Given the description of an element on the screen output the (x, y) to click on. 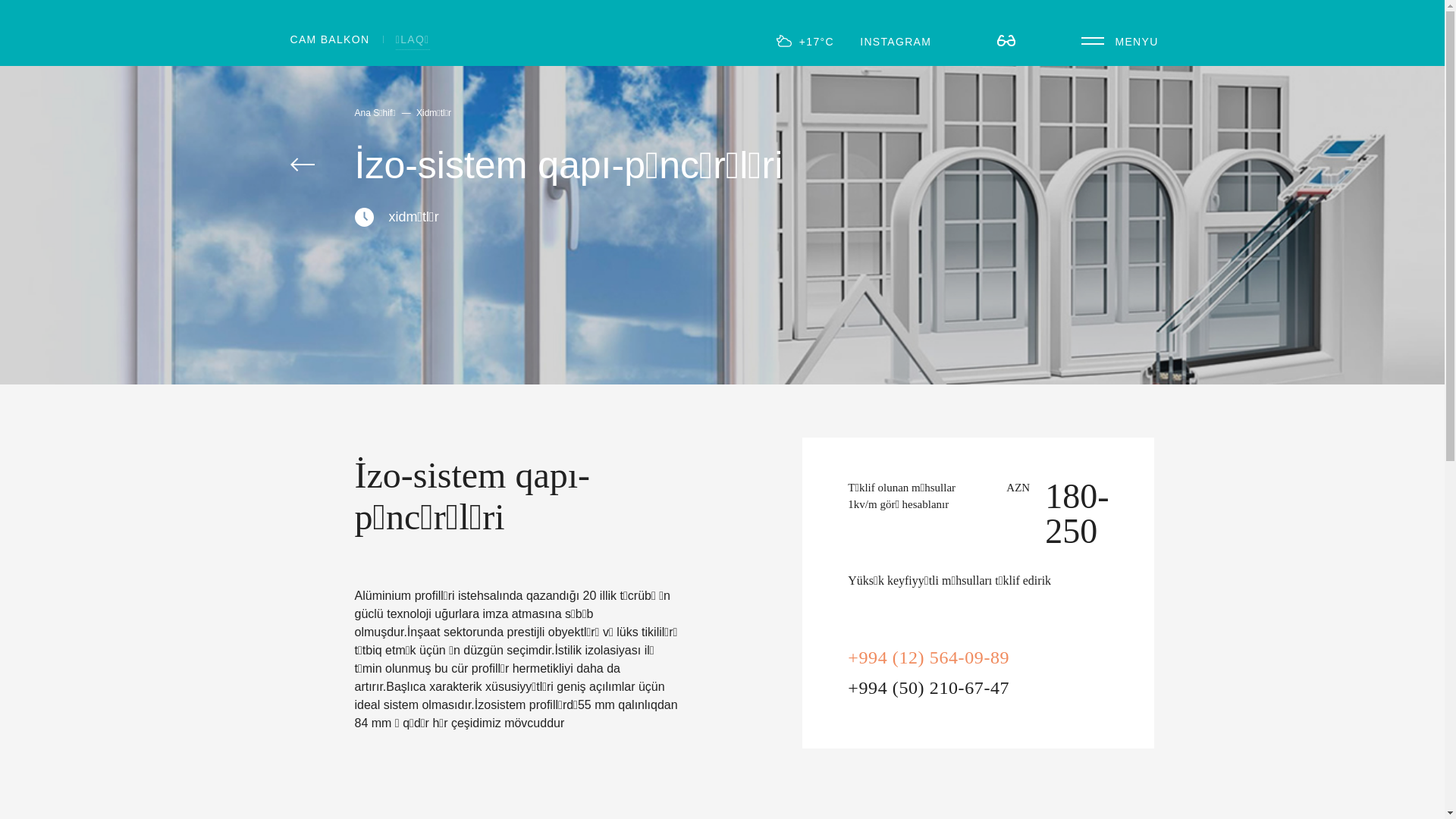
CAM BALKON Element type: text (329, 40)
+994 (50) 210-67-47 Element type: text (928, 687)
INSTAGRAM Element type: text (895, 42)
+994 (12) 564-09-89 Element type: text (928, 657)
